Given the description of an element on the screen output the (x, y) to click on. 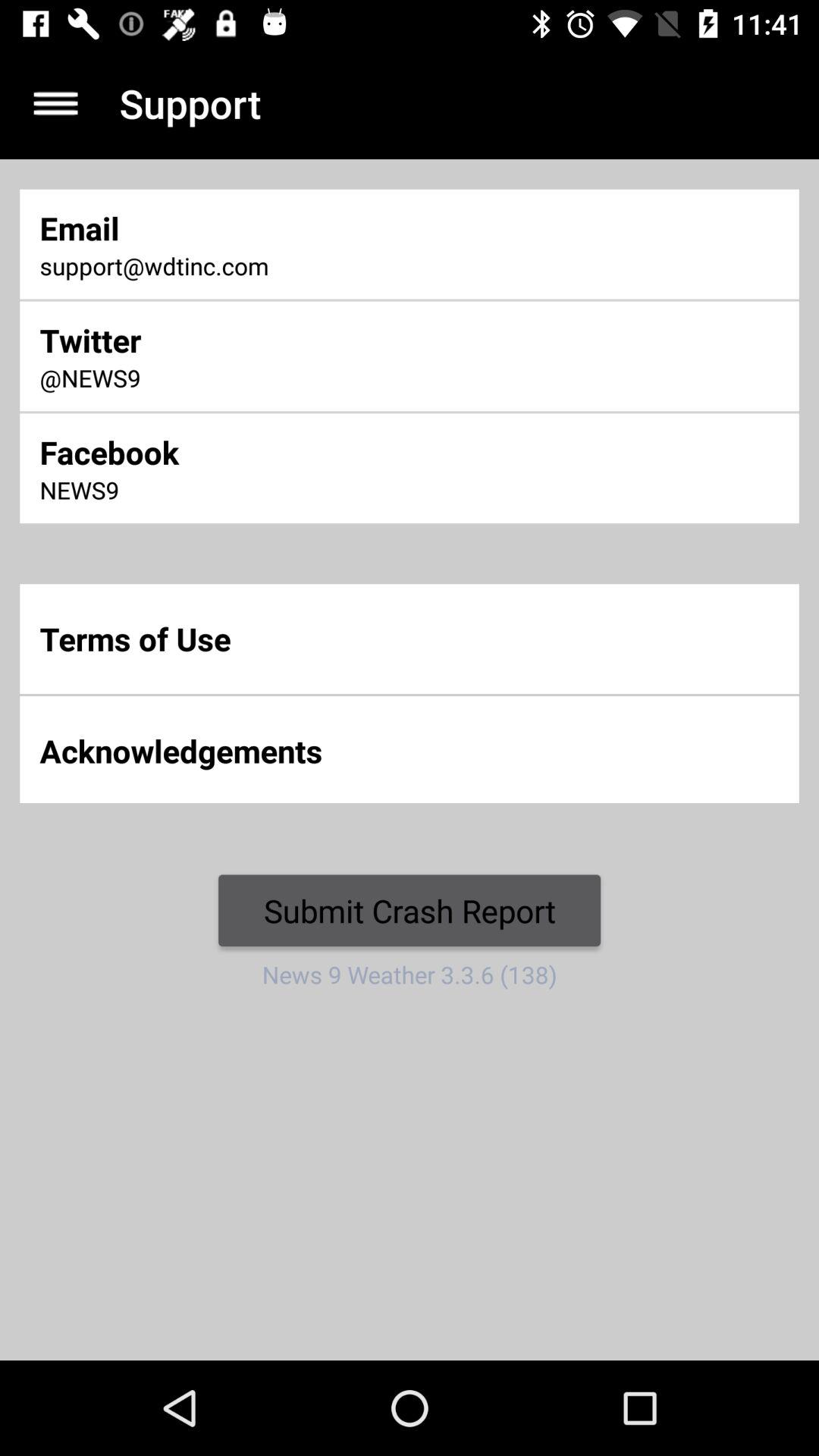
jump to email (272, 227)
